Given the description of an element on the screen output the (x, y) to click on. 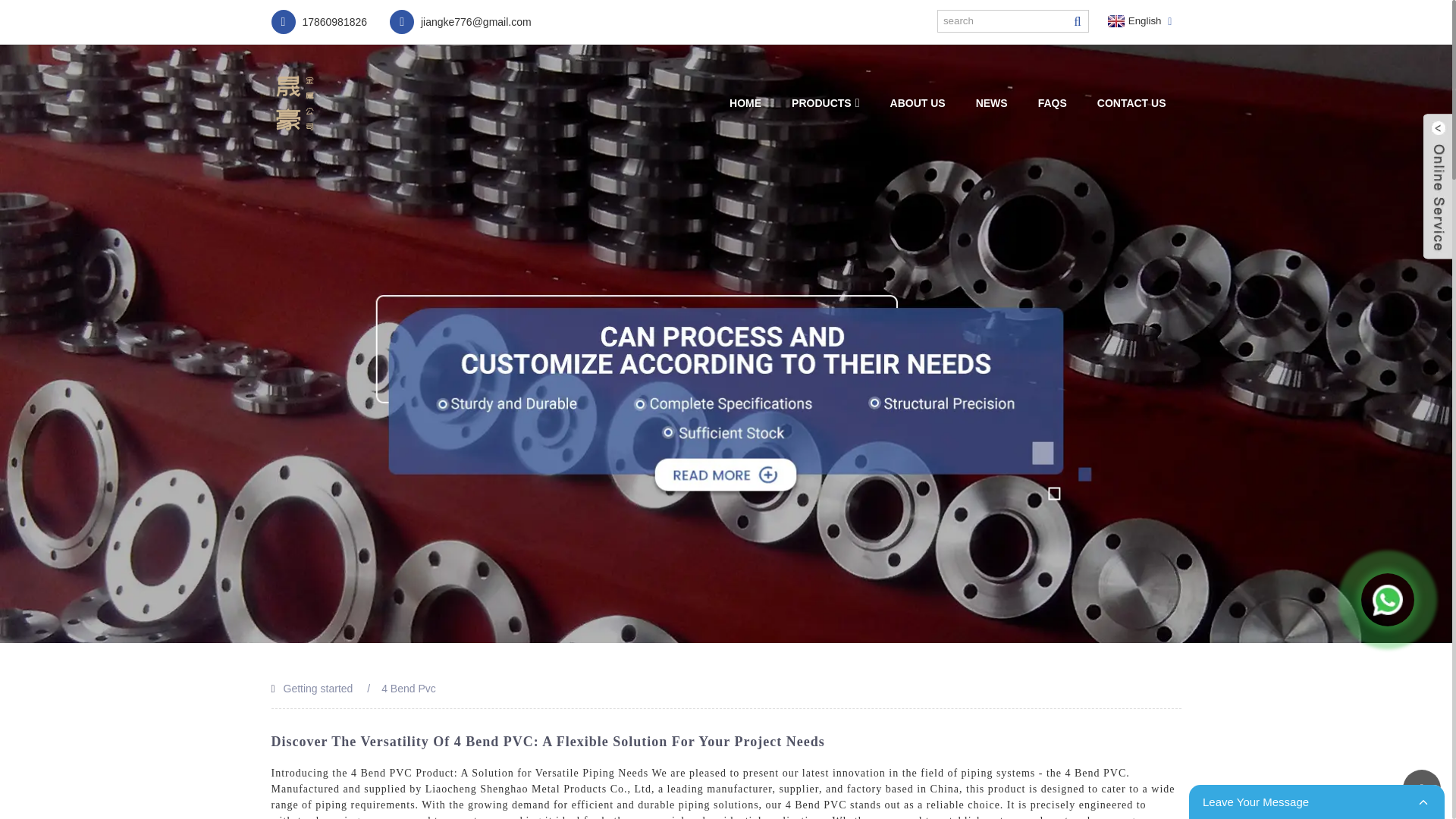
FAQS (1052, 103)
English (1132, 21)
PRODUCTS (825, 103)
CONTACT US (1130, 103)
Getting started (318, 688)
NEWS (991, 103)
HOME (745, 103)
4 Bend Pvc (408, 688)
ABOUT US (917, 103)
17860981826 (319, 21)
